Given the description of an element on the screen output the (x, y) to click on. 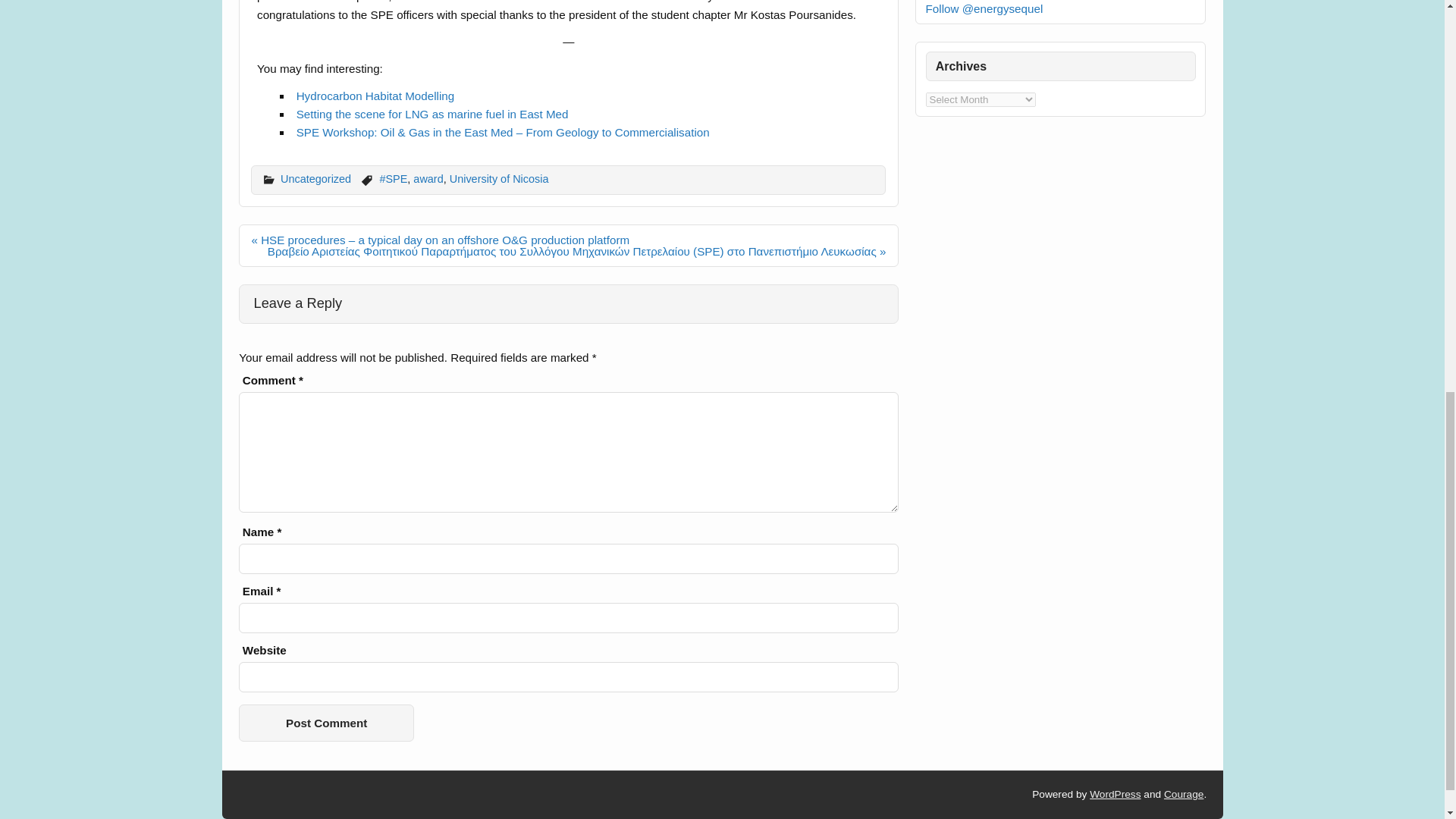
Setting the scene for LNG as marine fuel in East Med (433, 113)
award (427, 178)
WordPress (1114, 794)
Courage WordPress Theme (1183, 794)
Post Comment (325, 723)
Post Comment (325, 723)
University of Nicosia (498, 178)
Uncategorized (315, 178)
Hydrocarbon Habitat Modelling (375, 95)
